Given the description of an element on the screen output the (x, y) to click on. 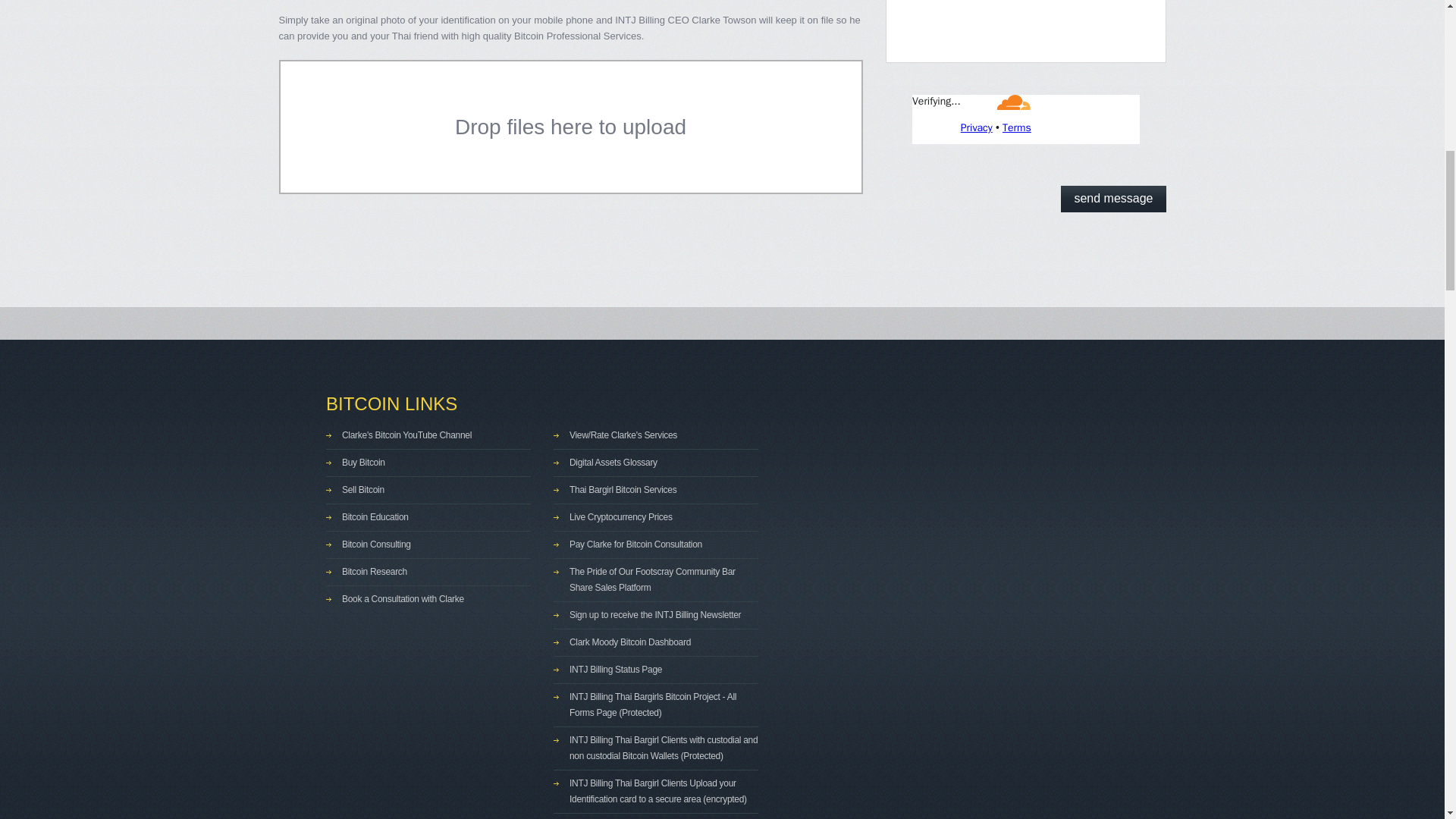
Drop files here to upload (569, 126)
